Given the description of an element on the screen output the (x, y) to click on. 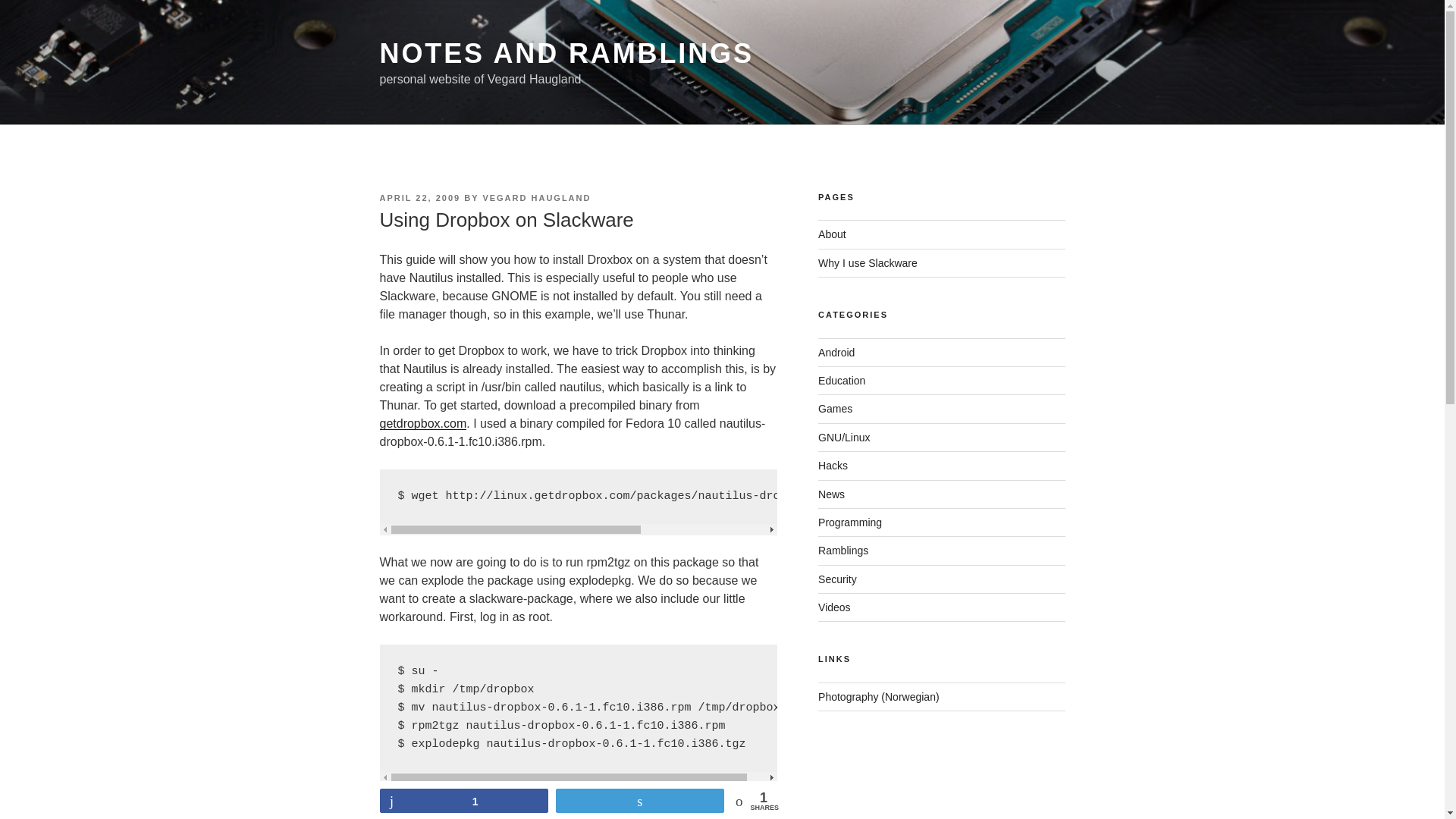
About (831, 234)
NOTES AND RAMBLINGS (565, 52)
Why I use Slackware (867, 263)
Android (836, 352)
Hacks (832, 465)
1 (463, 800)
News (831, 494)
Videos (834, 607)
VEGARD HAUGLAND (536, 197)
